Given the description of an element on the screen output the (x, y) to click on. 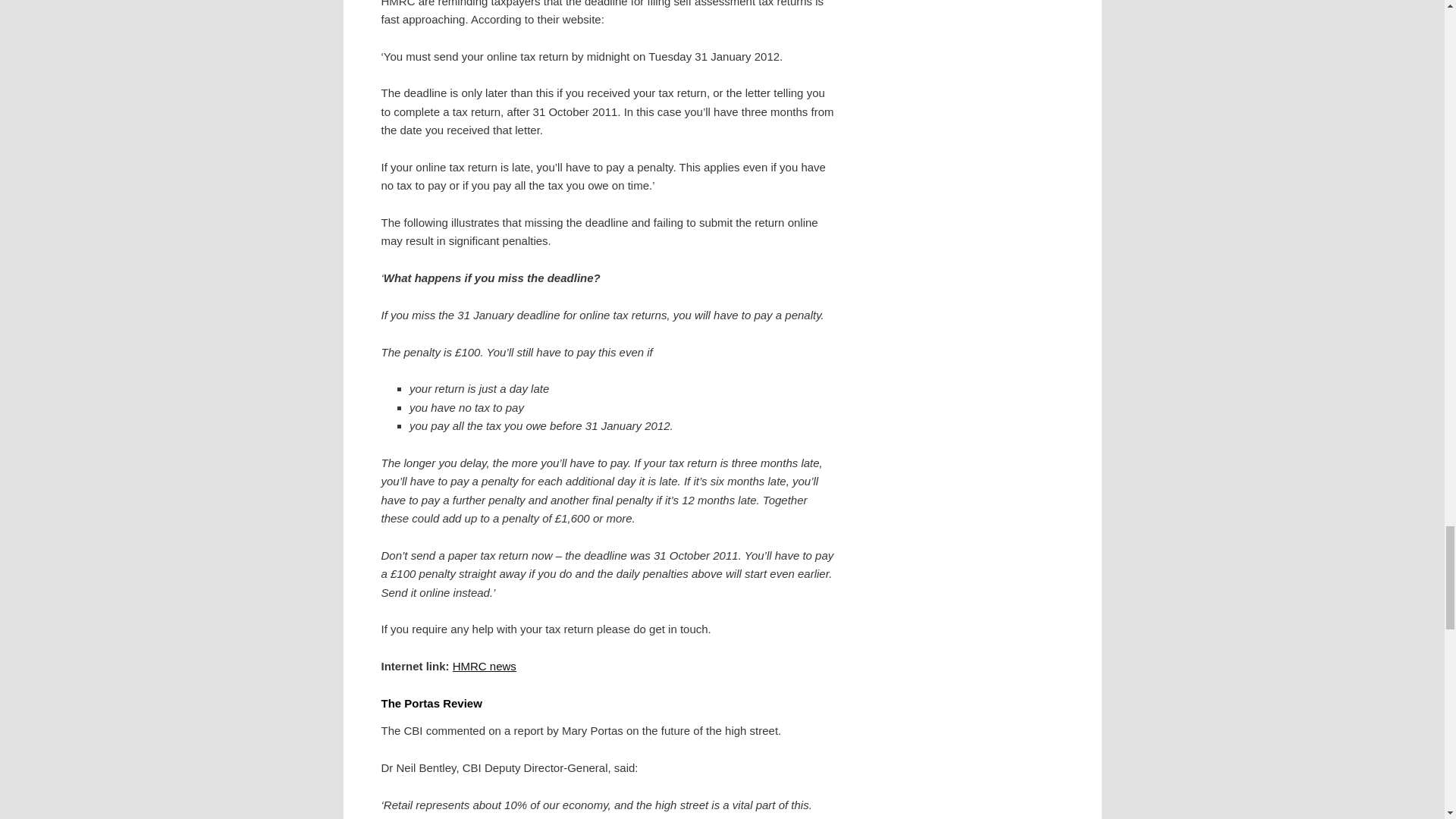
HMRC news (484, 666)
